Given the description of an element on the screen output the (x, y) to click on. 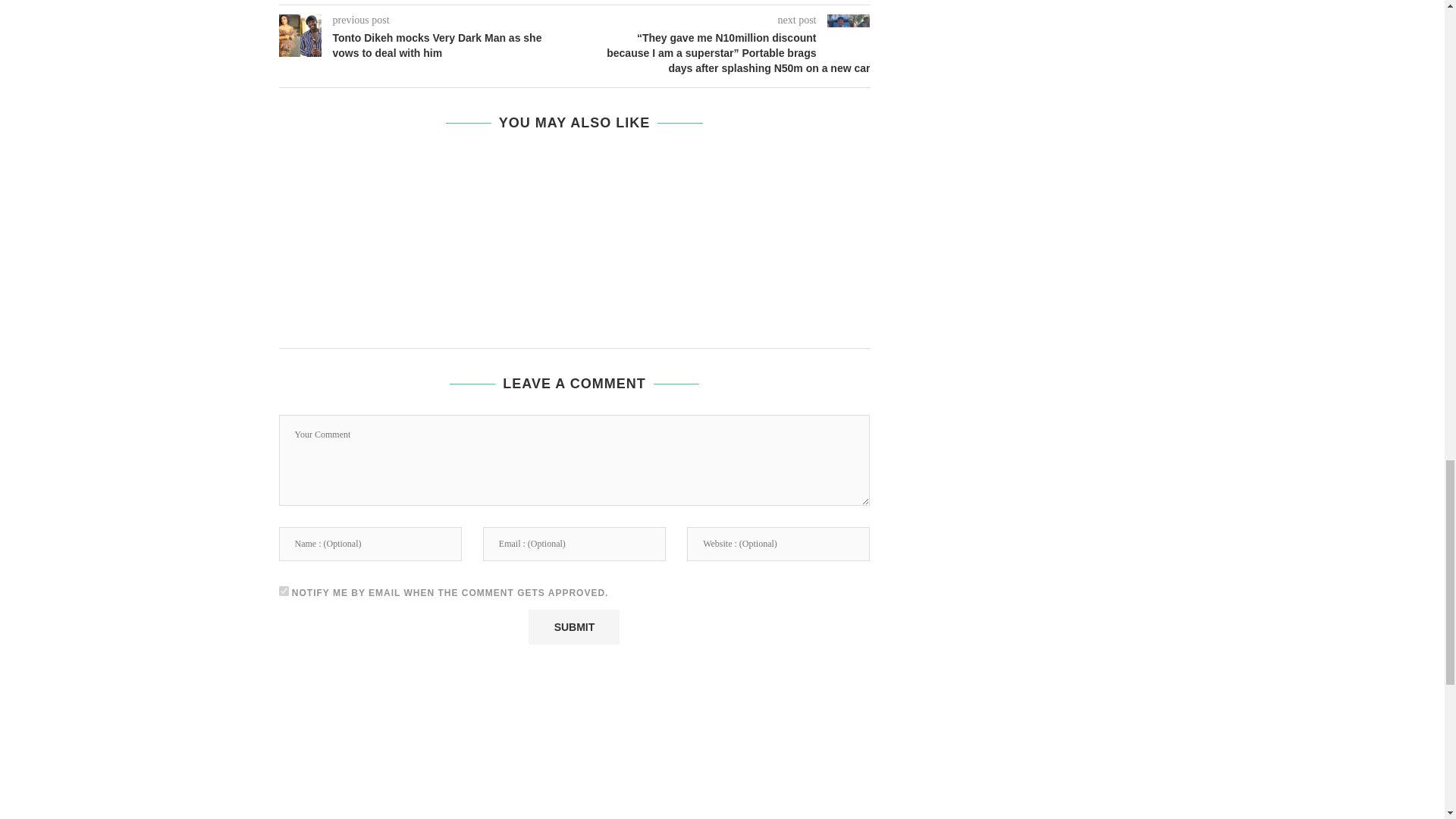
1 (283, 591)
Submit (574, 626)
